Given the description of an element on the screen output the (x, y) to click on. 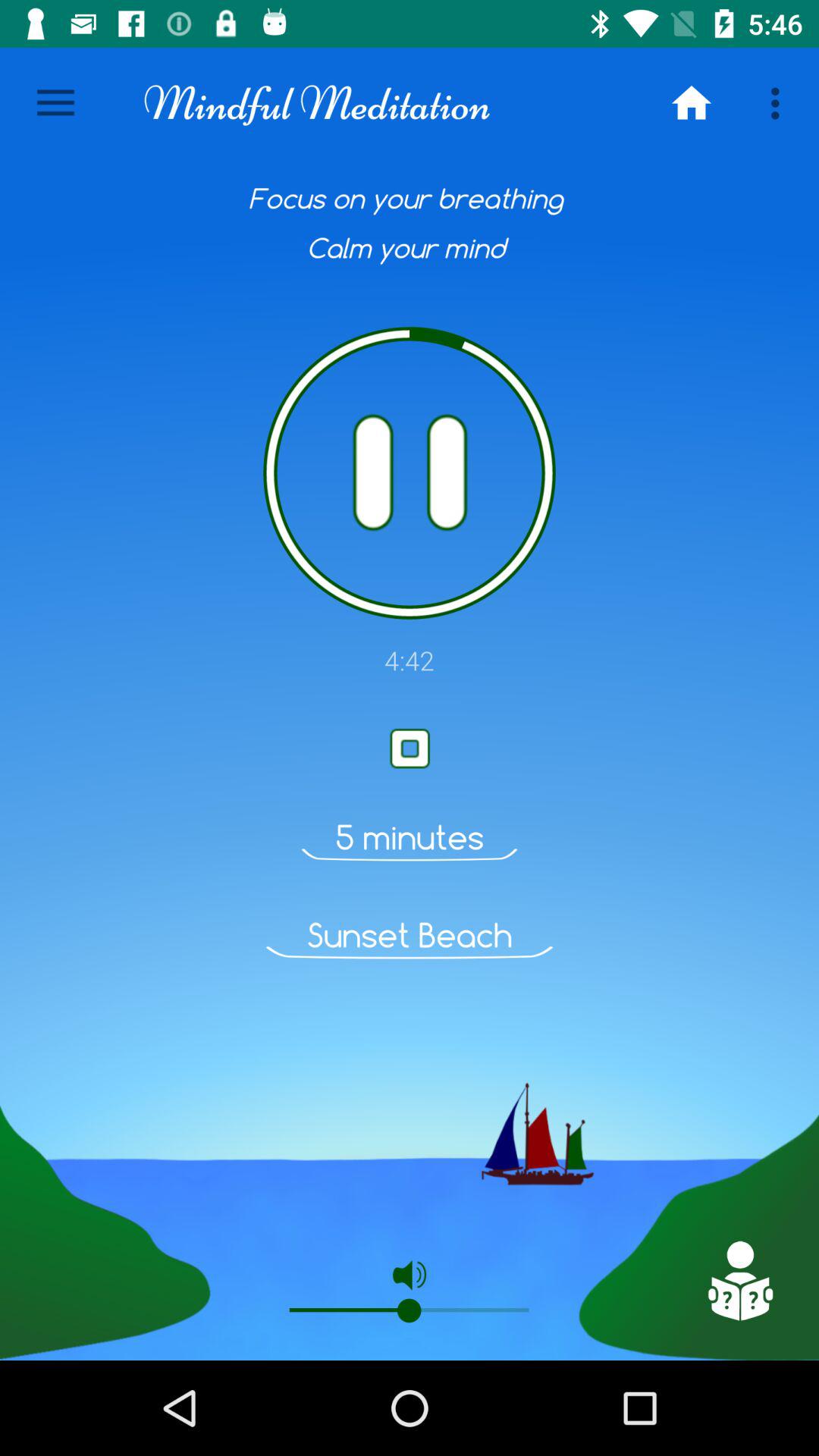
select item next to mindful meditation icon (691, 103)
